Given the description of an element on the screen output the (x, y) to click on. 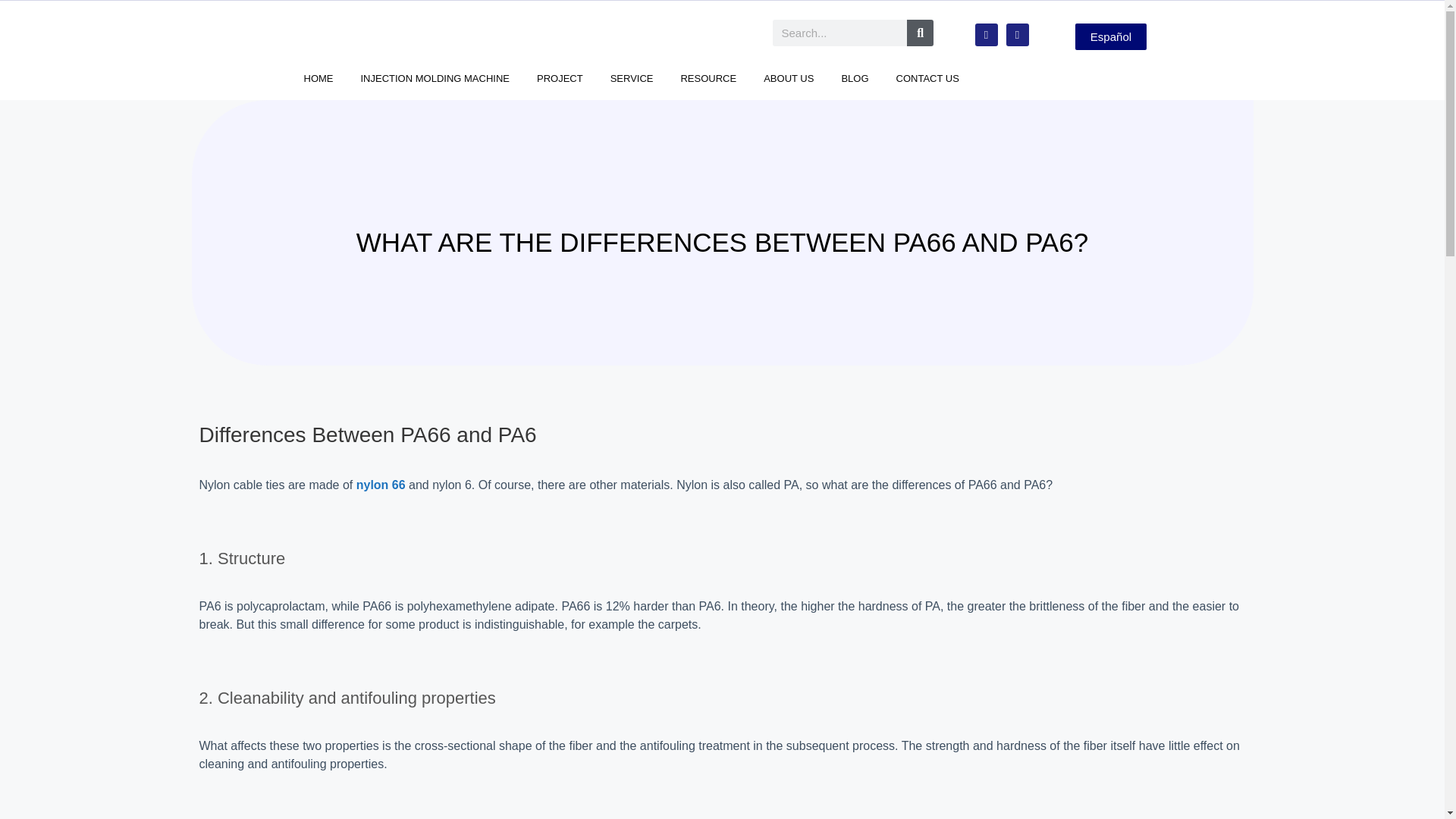
INJECTION MOLDING MACHINE (434, 78)
HOME (317, 78)
SERVICE (631, 78)
PROJECT (559, 78)
